Given the description of an element on the screen output the (x, y) to click on. 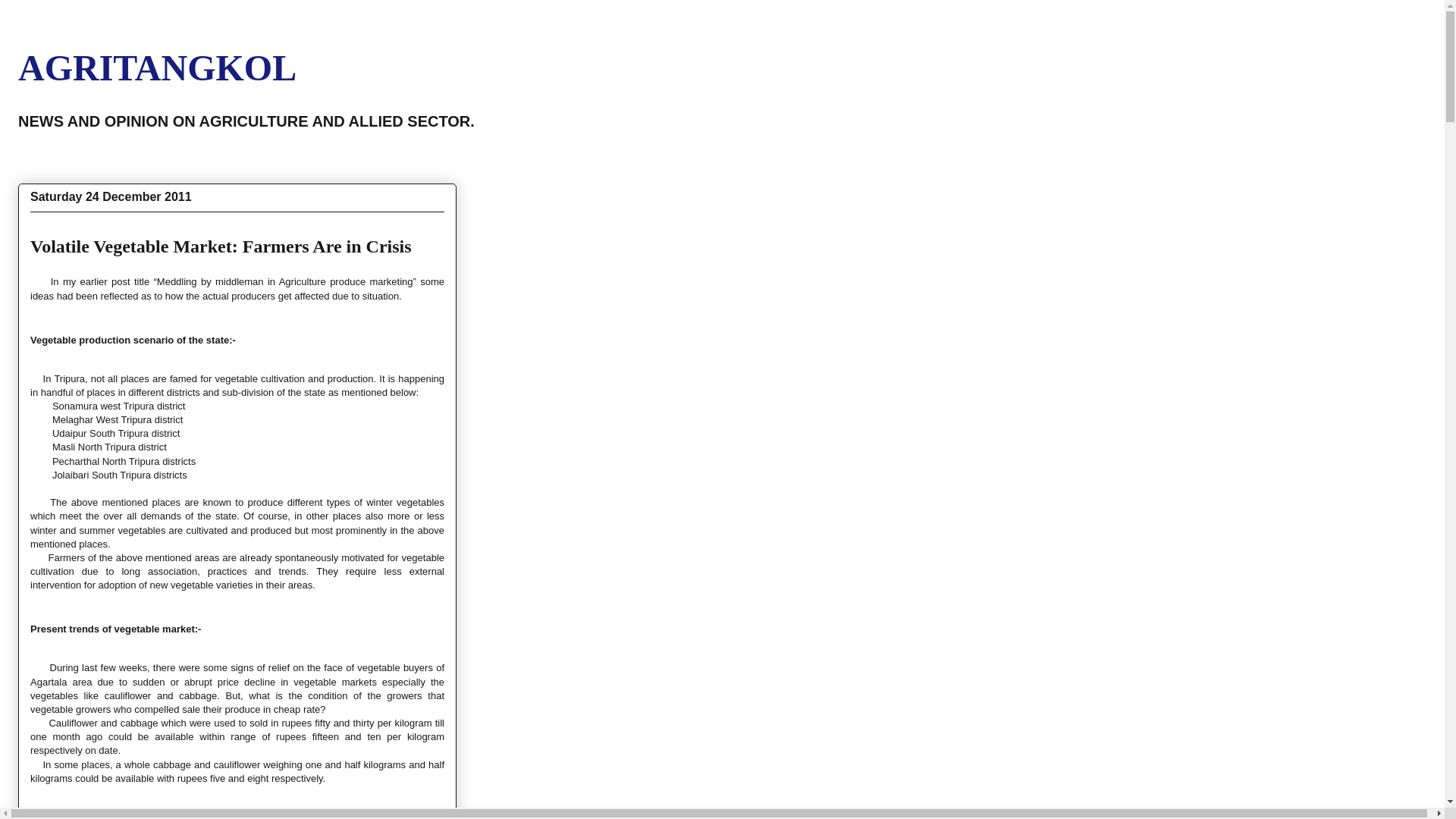
Volatile Vegetable Market: Farmers Are in Crisis (221, 246)
AGRITANGKOL (157, 67)
